Given the description of an element on the screen output the (x, y) to click on. 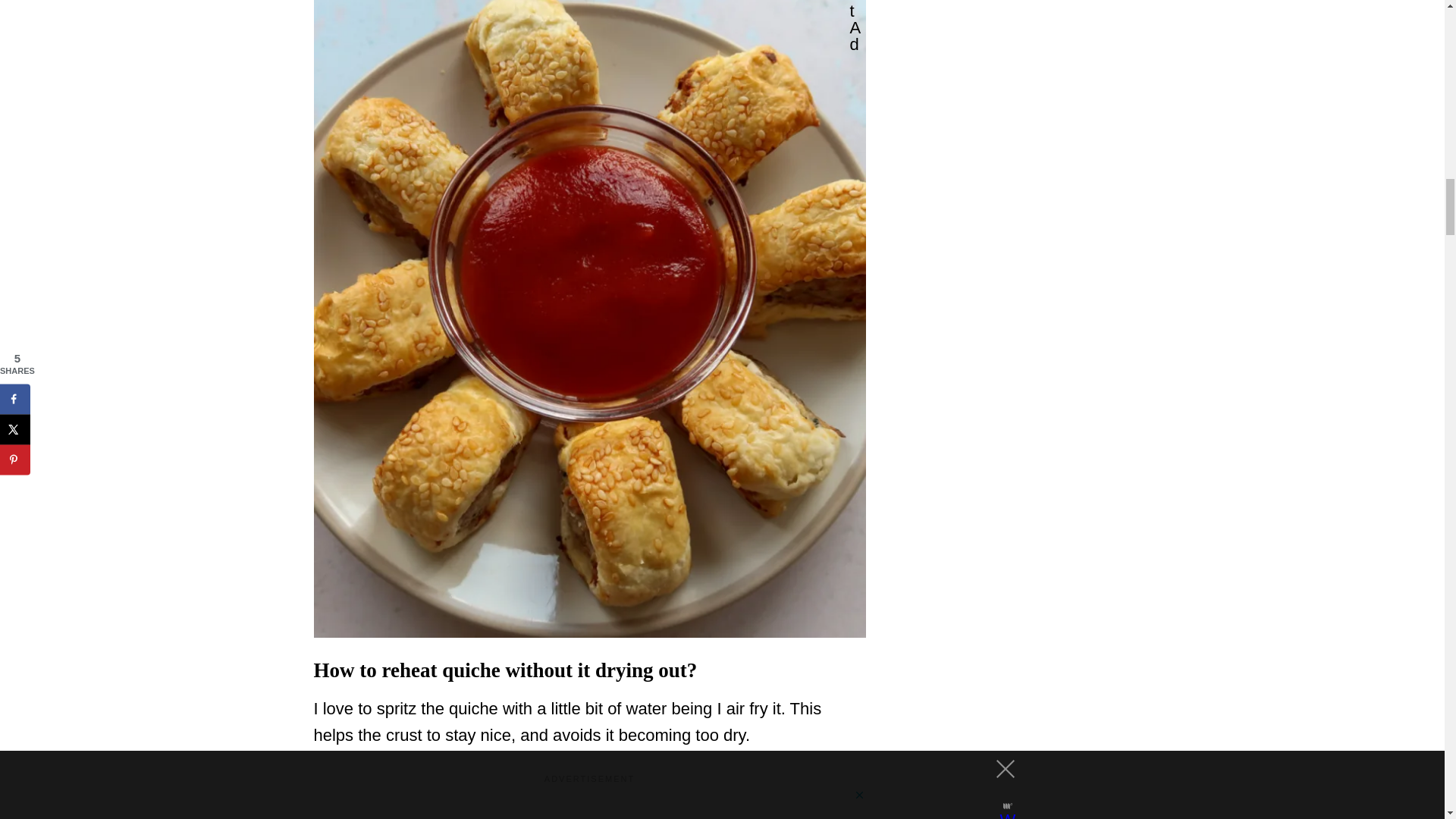
3rd party ad content (590, 803)
